Given the description of an element on the screen output the (x, y) to click on. 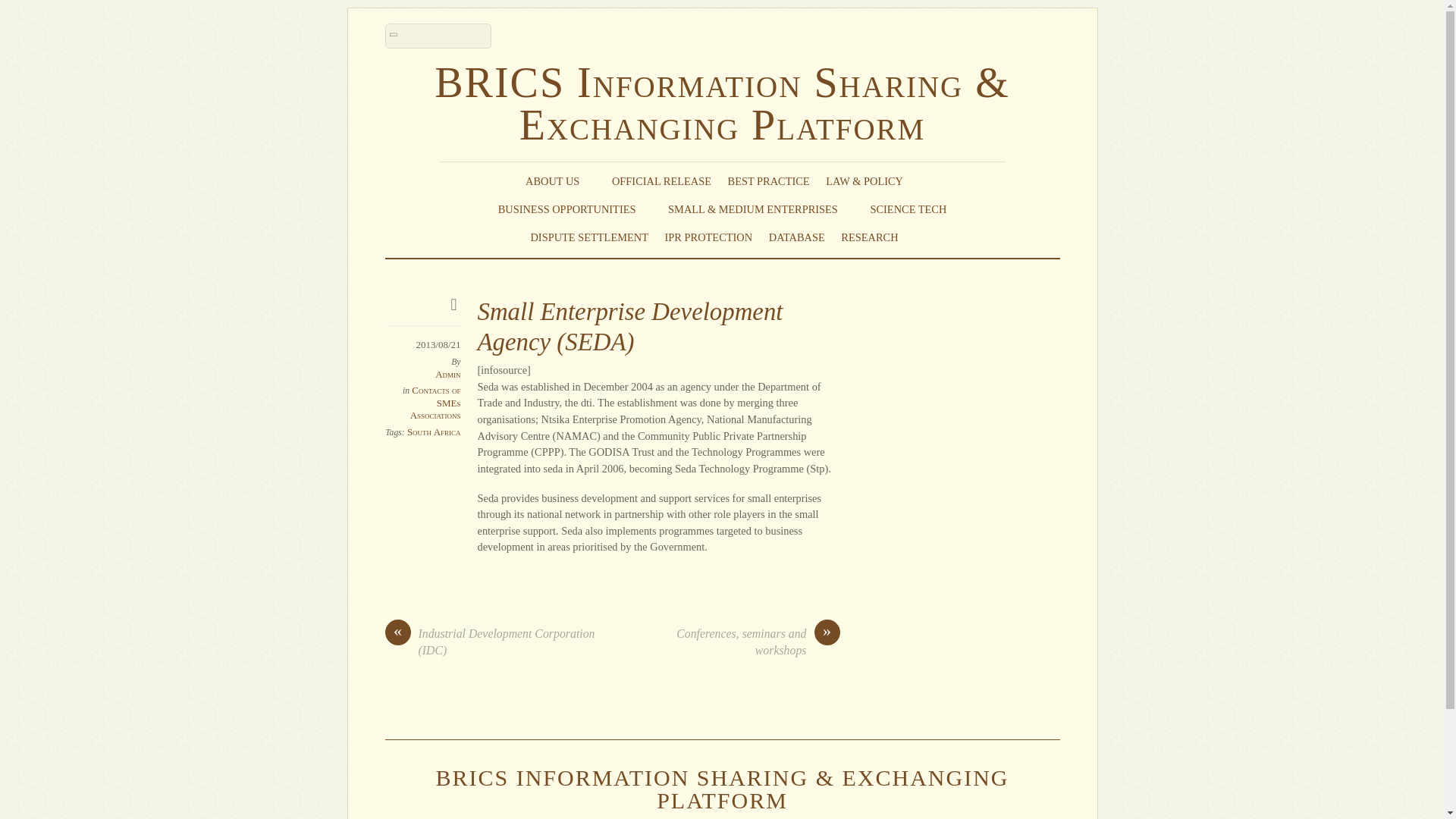
BEST PRACTICE (768, 180)
Search (438, 35)
RESEARCH (877, 237)
SCIENCE TECH (908, 209)
Contacts of SMEs Associations (435, 402)
IPR PROTECTION (709, 237)
South Africa (434, 431)
OFFICIAL RELEASE (661, 180)
Admin (447, 374)
BUSINESS OPPORTUNITIES (575, 209)
